Given the description of an element on the screen output the (x, y) to click on. 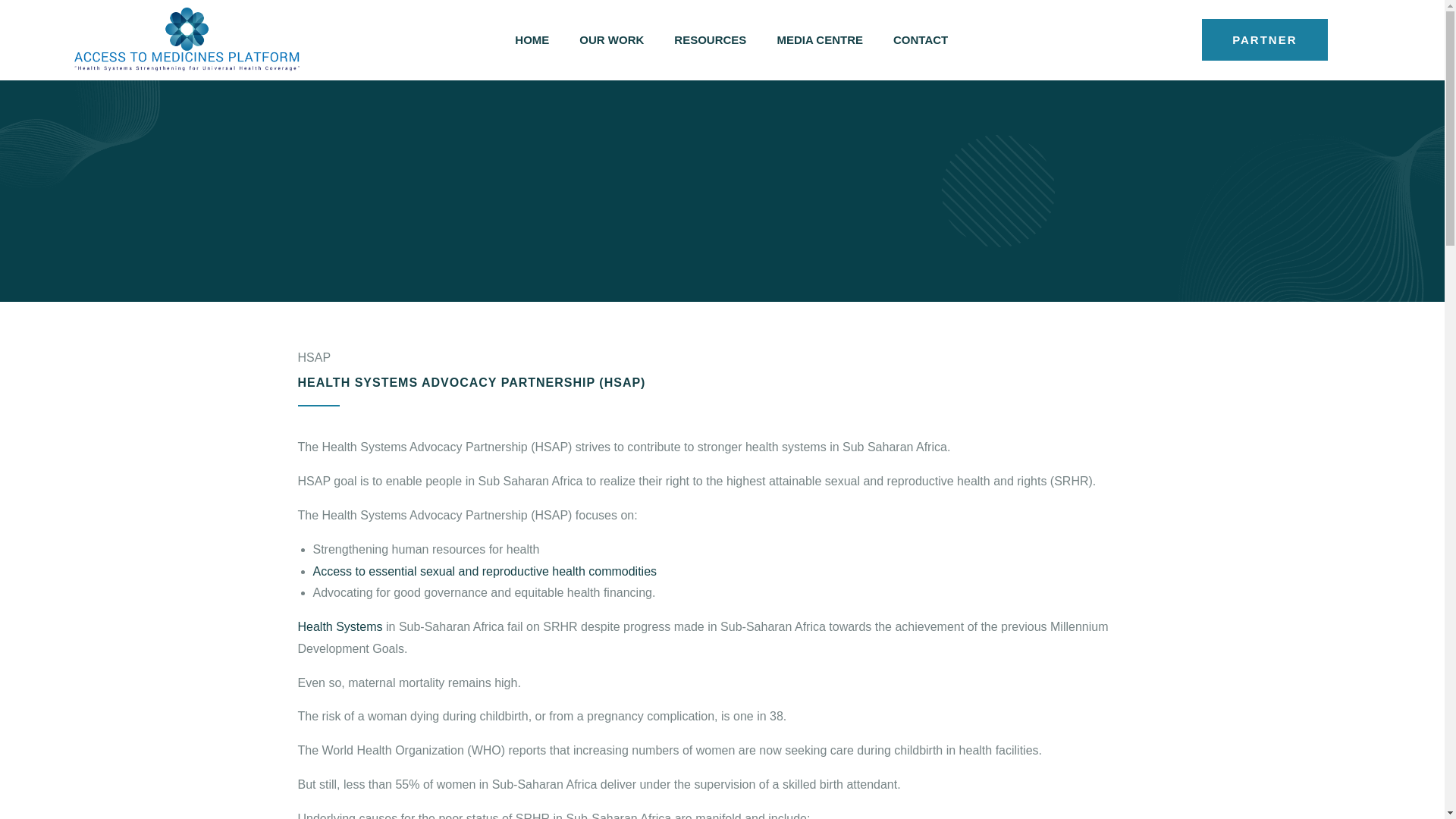
CONTACT (919, 39)
OUR WORK (611, 39)
MEDIA CENTRE (819, 39)
HOME (531, 39)
RESOURCES (710, 39)
